Given the description of an element on the screen output the (x, y) to click on. 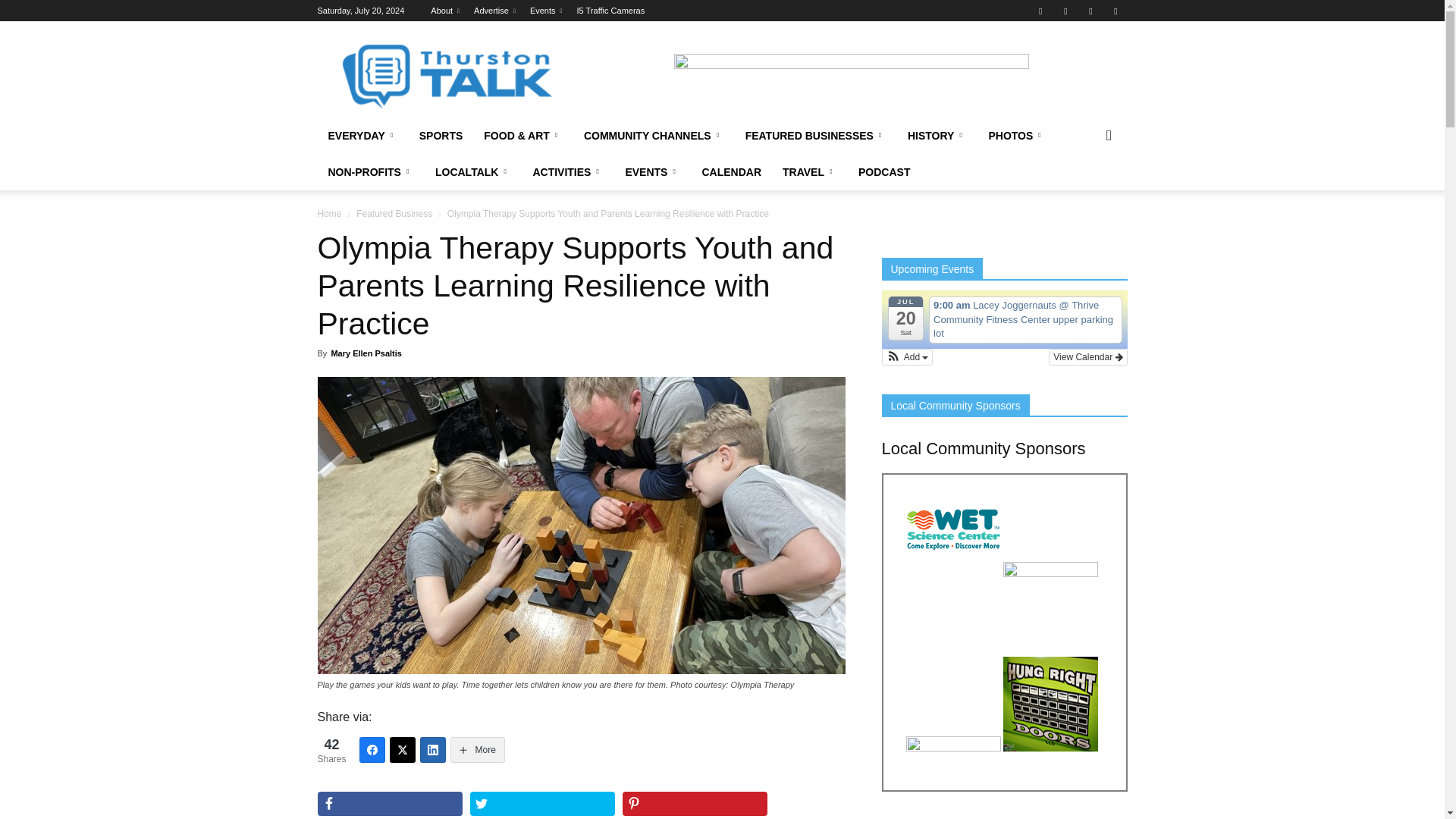
RSS (1090, 10)
Mail (1065, 10)
Facebook (1040, 10)
Twitter (1114, 10)
